Given the description of an element on the screen output the (x, y) to click on. 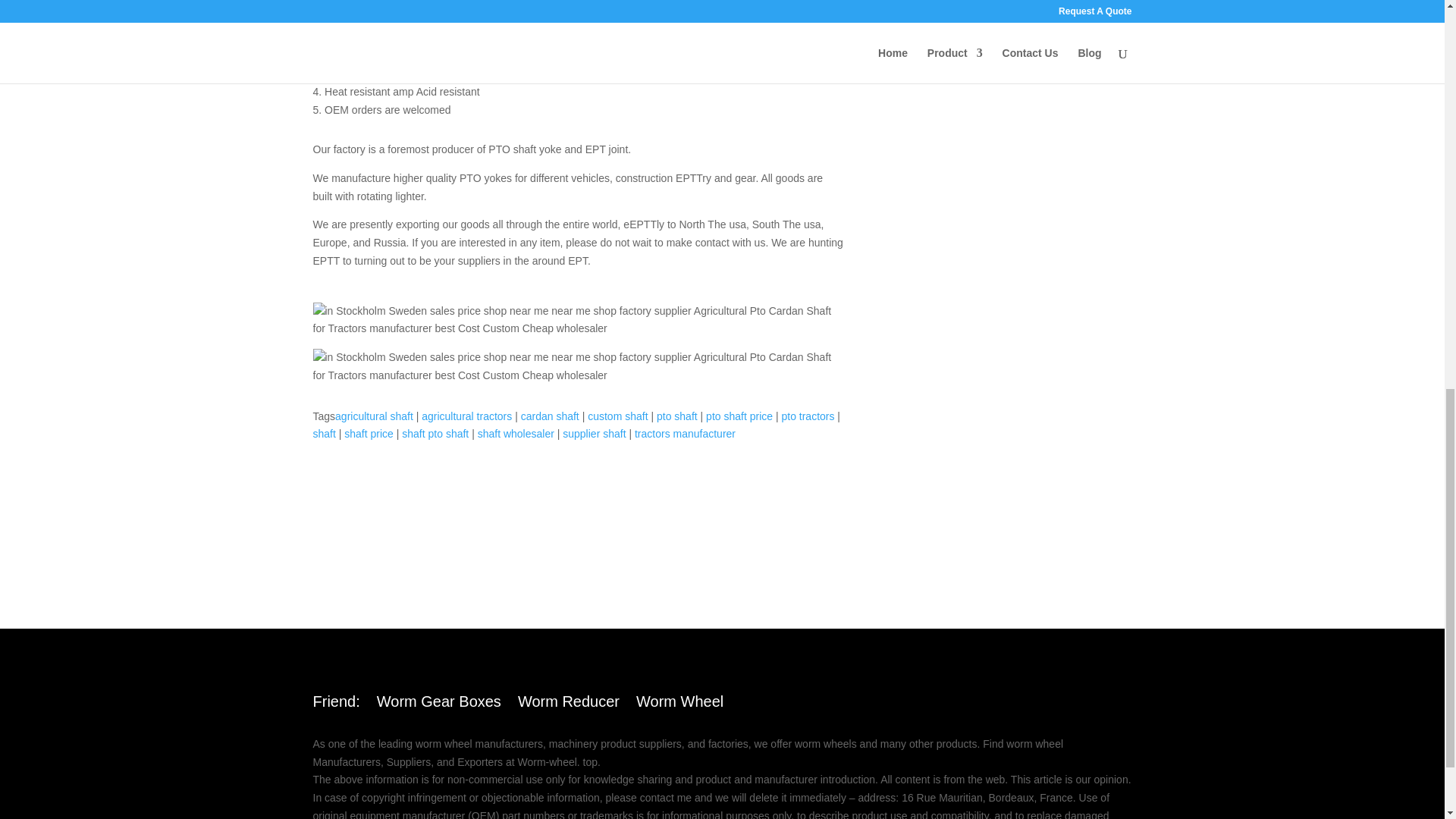
Worm Reducer (569, 704)
pto tractors (807, 416)
pto shaft price (739, 416)
agricultural shaft (373, 416)
shaft wholesaler (515, 433)
shaft pto shaft (434, 433)
tractors manufacturer (684, 433)
pto shaft (676, 416)
Worm Wheel (679, 704)
cardan shaft (550, 416)
shaft (323, 433)
custom shaft (617, 416)
Friend: (336, 704)
agricultural tractors (467, 416)
